Given the description of an element on the screen output the (x, y) to click on. 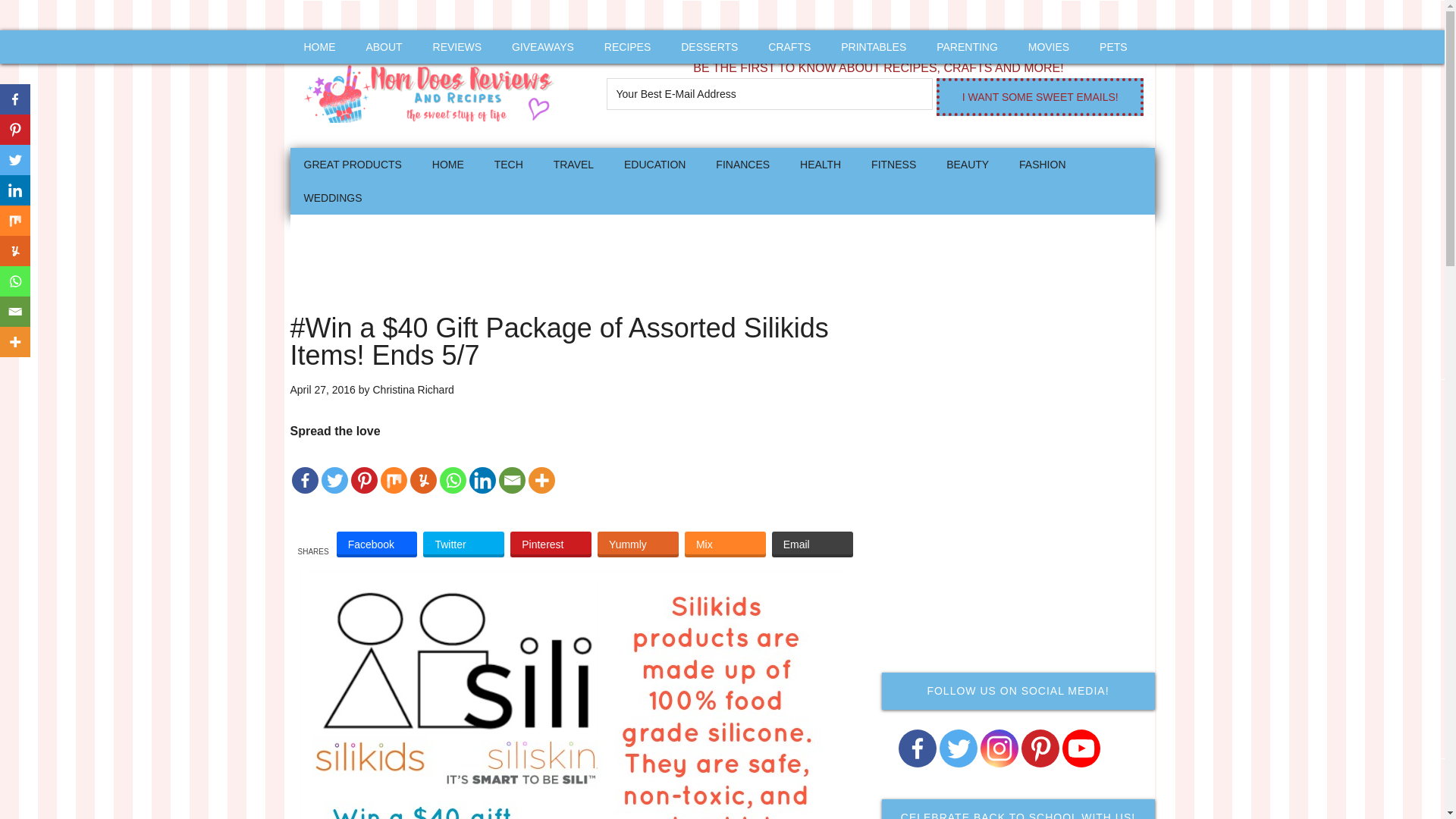
GIVEAWAYS (542, 46)
MOVIES (1048, 46)
HEALTH (820, 164)
Facebook (376, 544)
Giveaways (542, 46)
FASHION (1042, 164)
Mom Does Reviews (433, 88)
ABOUT (383, 46)
WEDDINGS (332, 197)
REVIEWS (457, 46)
Share on Facebook (376, 544)
TECH (508, 164)
CRAFTS (789, 46)
PARENTING (967, 46)
PETS (1113, 46)
